Given the description of an element on the screen output the (x, y) to click on. 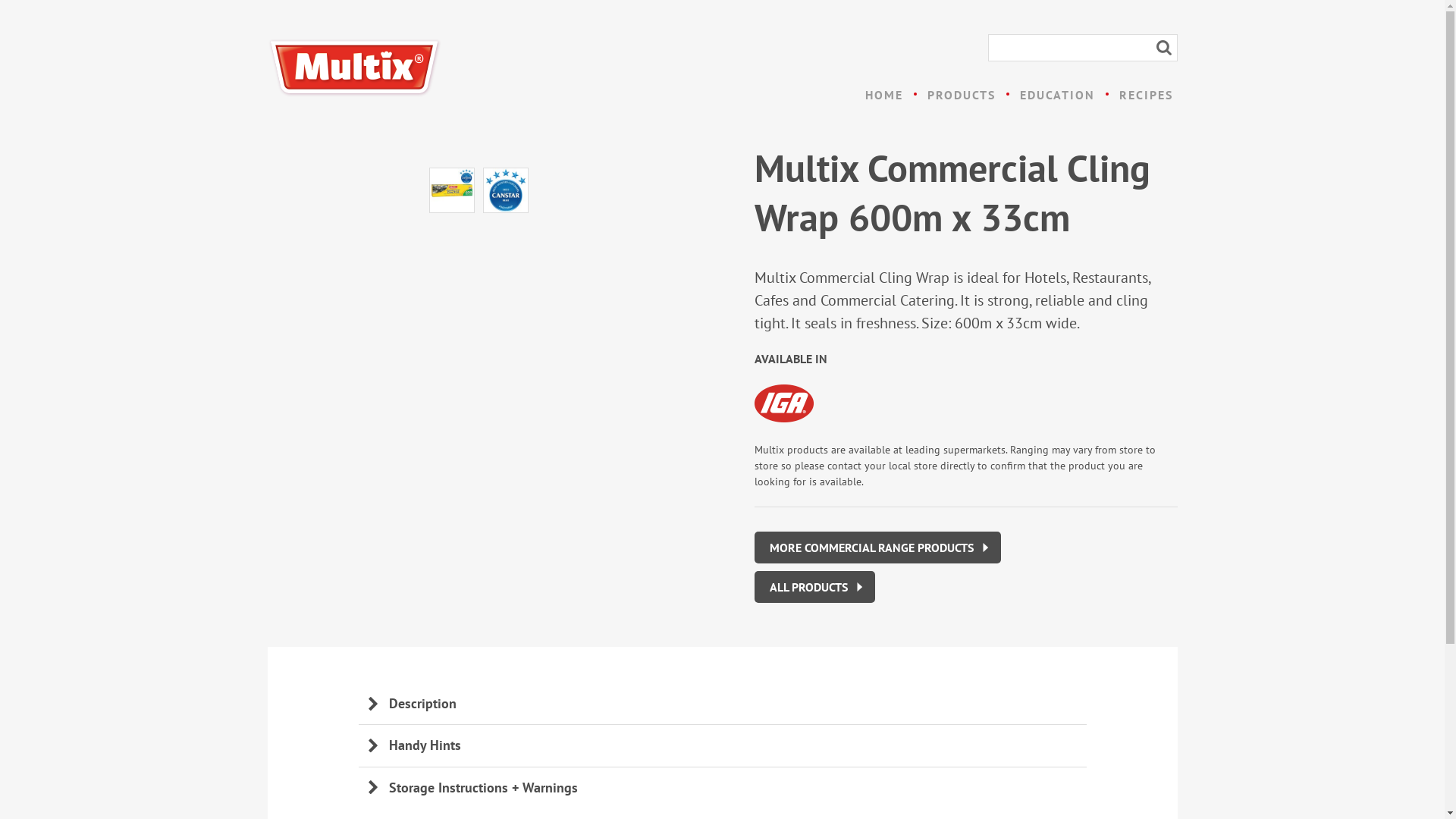
IGA Element type: hover (794, 424)
Multix Element type: hover (353, 67)
PRODUCTS Element type: text (960, 94)
Search Element type: text (1162, 47)
ALL PRODUCTS Element type: text (813, 586)
HOME Element type: text (883, 94)
RECIPES Element type: text (1146, 94)
EDUCATION Element type: text (1056, 94)
MORE COMMERCIAL RANGE PRODUCTS Element type: text (876, 547)
IGA Element type: hover (782, 403)
